Given the description of an element on the screen output the (x, y) to click on. 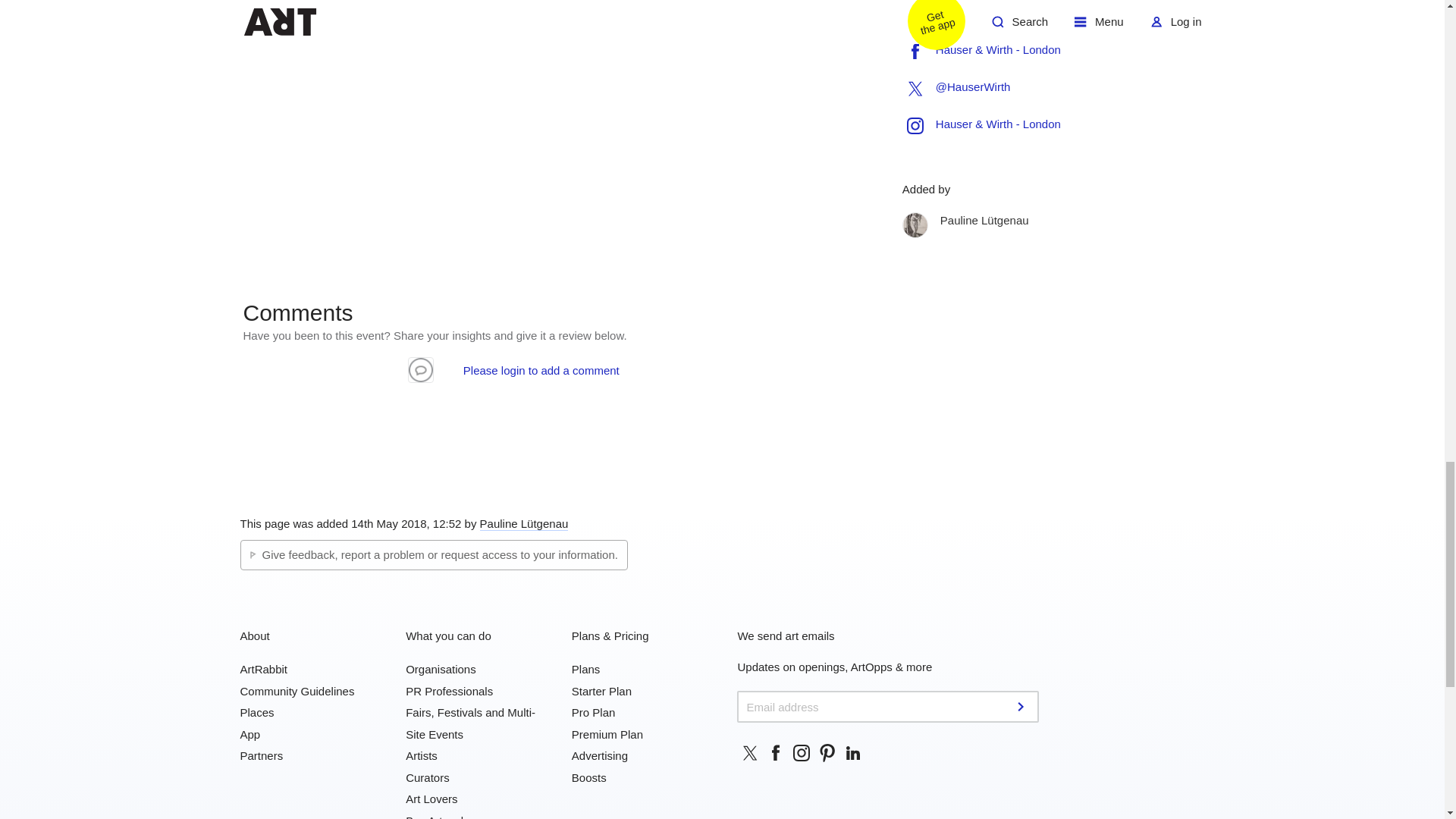
submit (1021, 706)
